Given the description of an element on the screen output the (x, y) to click on. 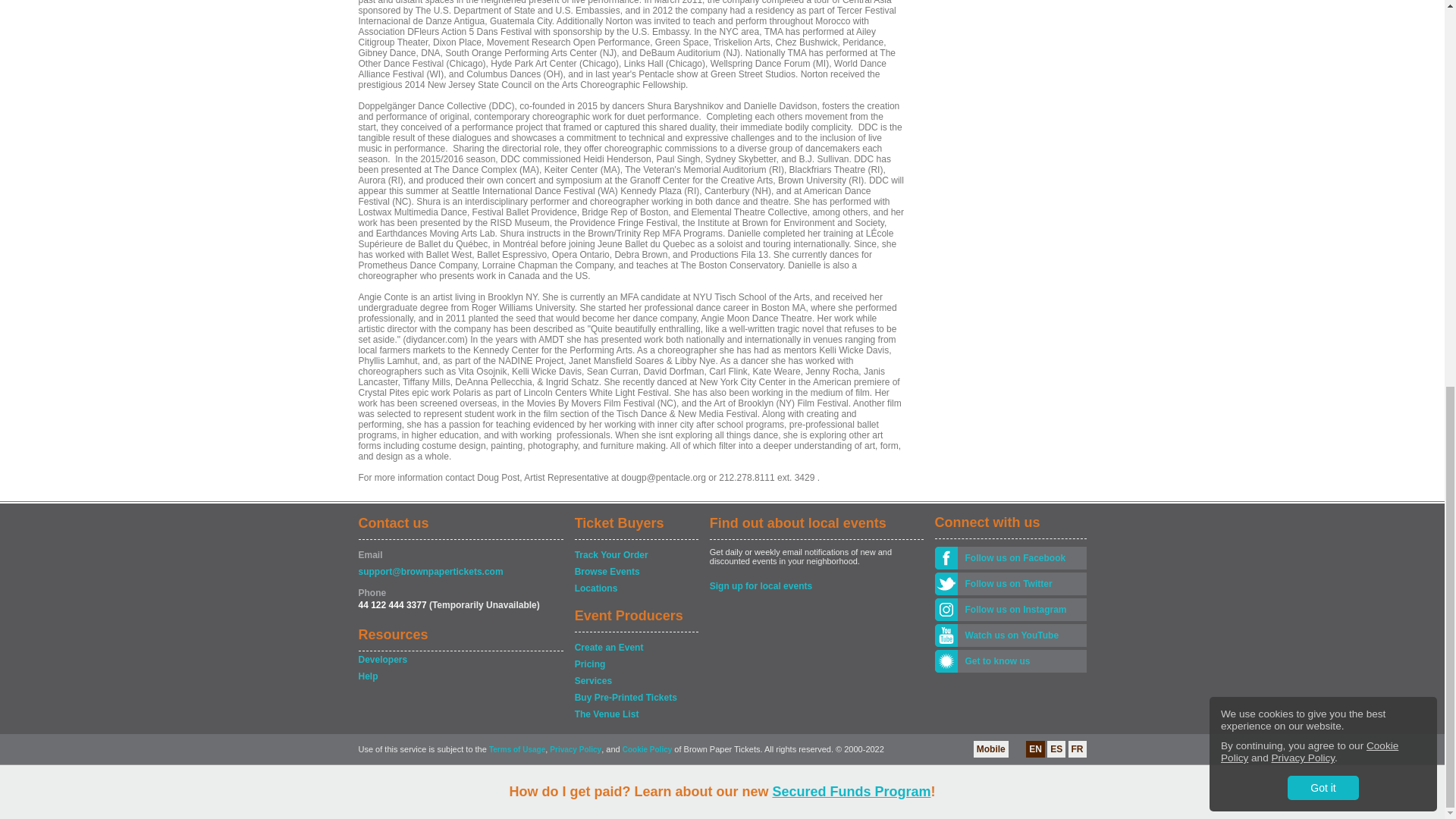
Sign up for local events (816, 585)
Developers (460, 659)
Help (460, 676)
Locations (636, 588)
Track Your Order (636, 554)
Services (636, 680)
Secured Funds Program (850, 59)
Cookie Policy (1309, 19)
Privacy Policy (1303, 25)
The Venue List (636, 713)
